Given the description of an element on the screen output the (x, y) to click on. 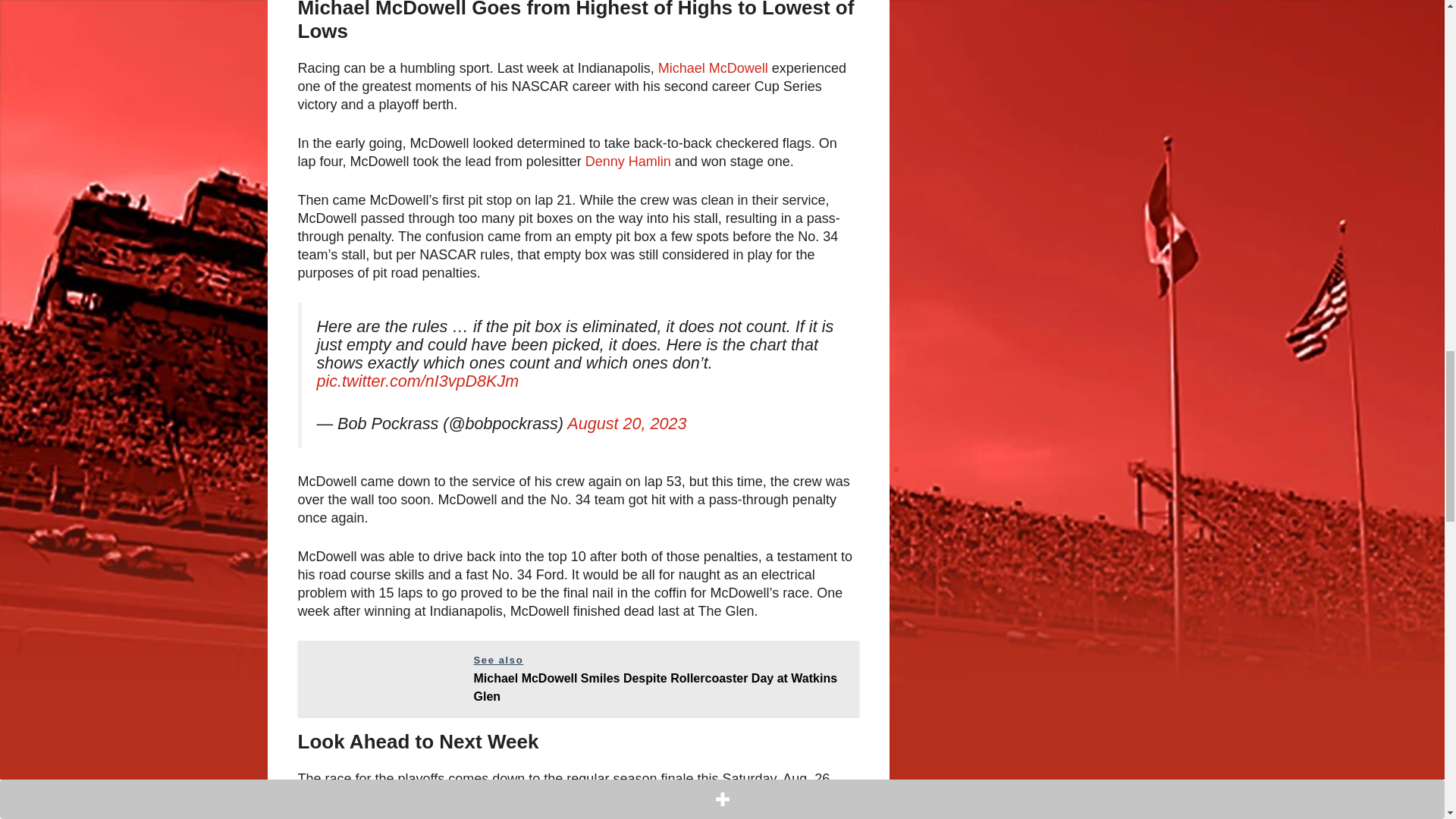
Michael McDowell (714, 68)
Denny Hamlin (628, 160)
August 20, 2023 (626, 423)
